Given the description of an element on the screen output the (x, y) to click on. 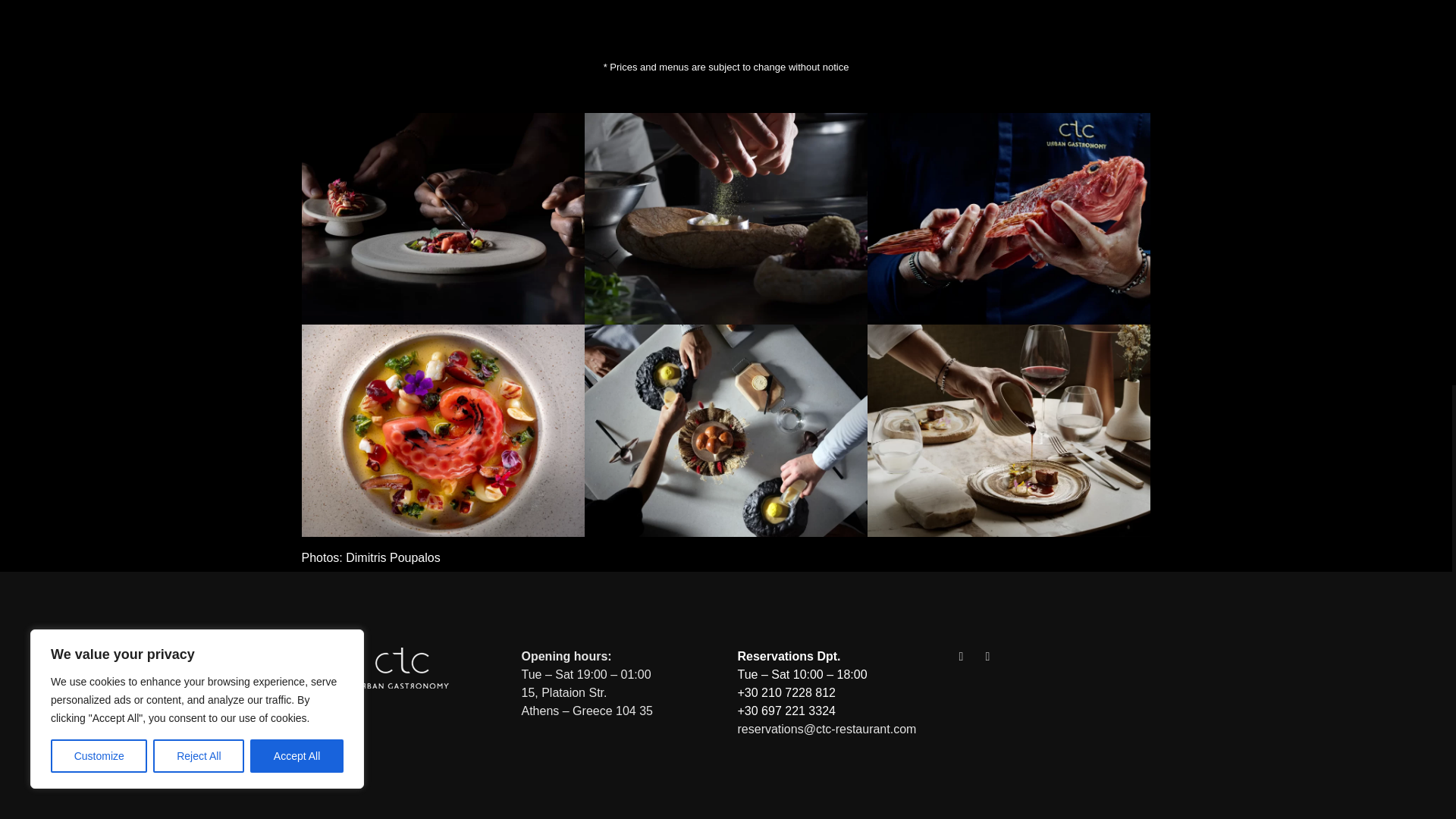
Customize (98, 28)
Reject All (198, 28)
Accept All (296, 28)
